Given the description of an element on the screen output the (x, y) to click on. 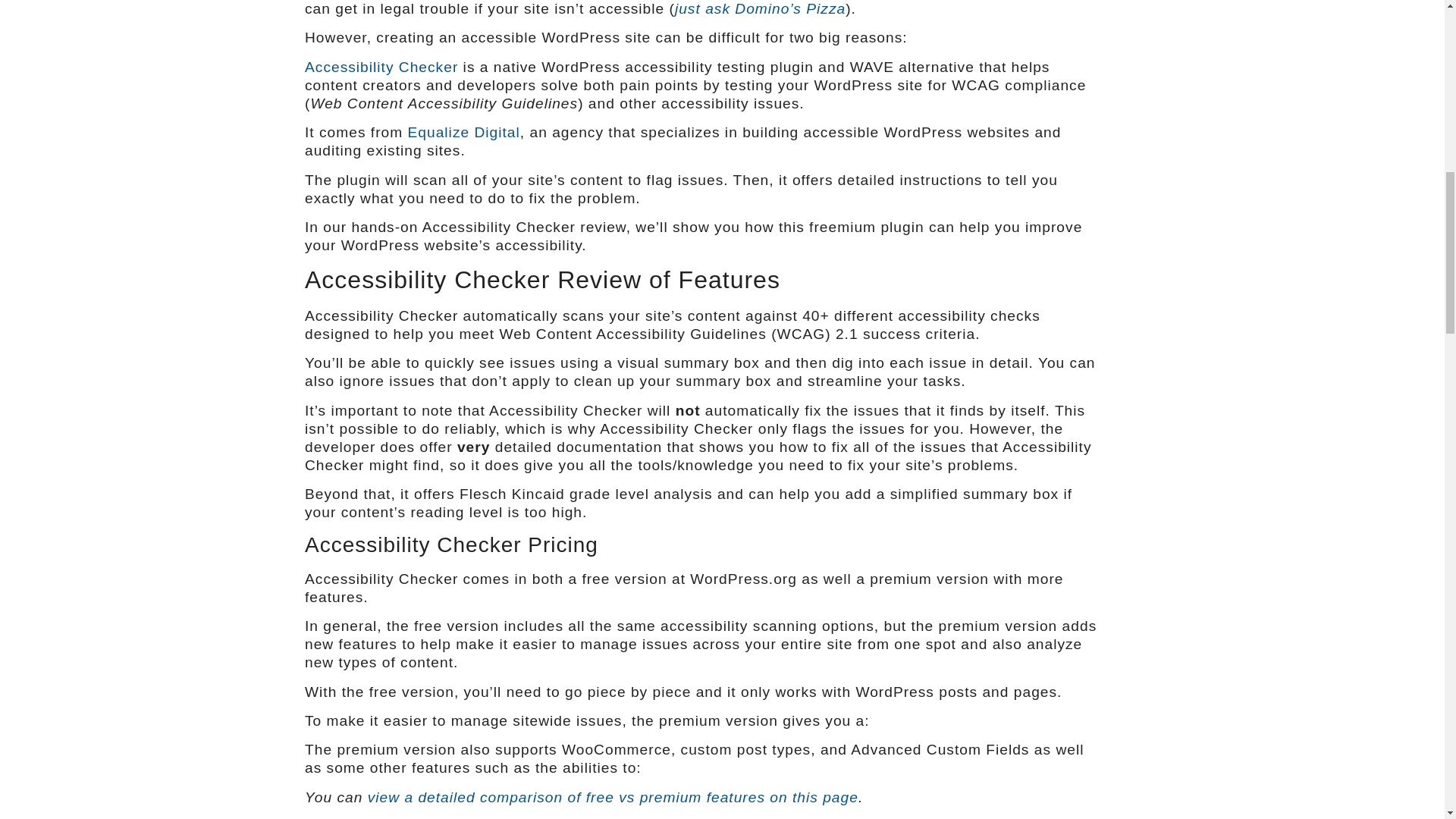
Equalize Digital (463, 132)
Accessibility Checker (381, 66)
